Given the description of an element on the screen output the (x, y) to click on. 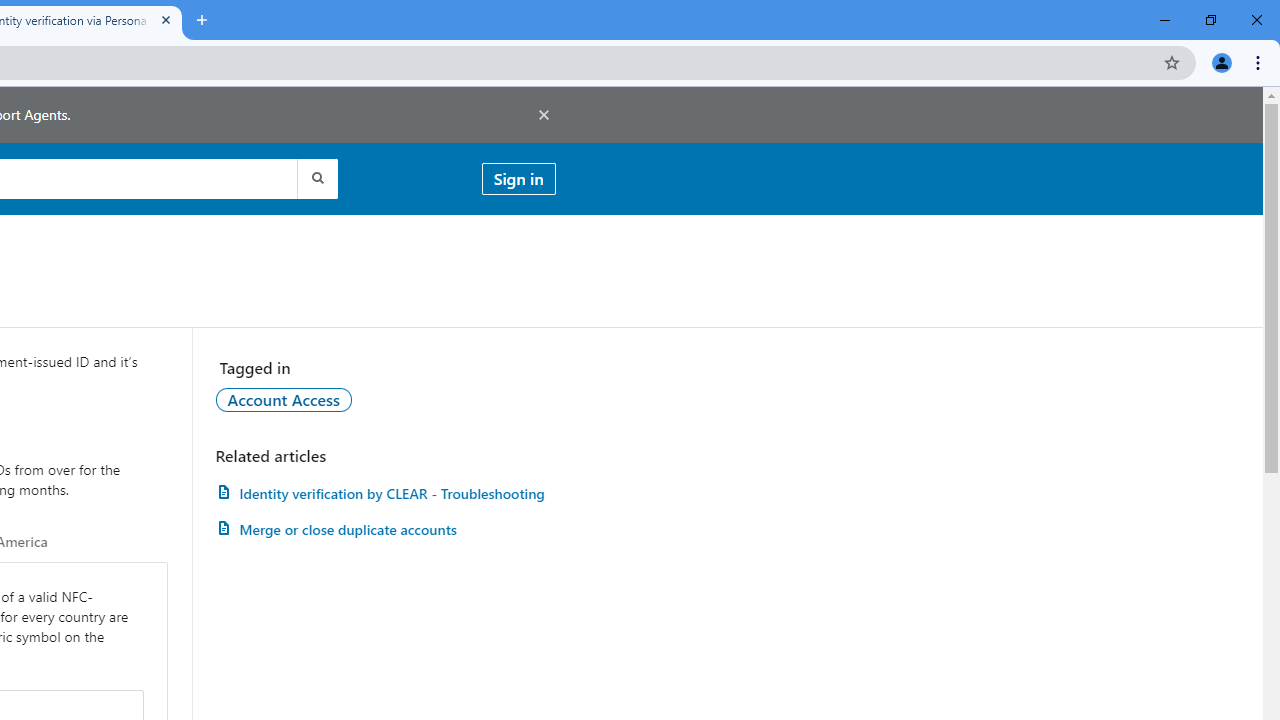
Account Access (283, 399)
Merge or close duplicate accounts (385, 529)
AutomationID: topic-link-a151002 (283, 399)
Identity verification by CLEAR - Troubleshooting (385, 493)
Submit search (316, 178)
AutomationID: article-link-a1337200 (385, 529)
